Given the description of an element on the screen output the (x, y) to click on. 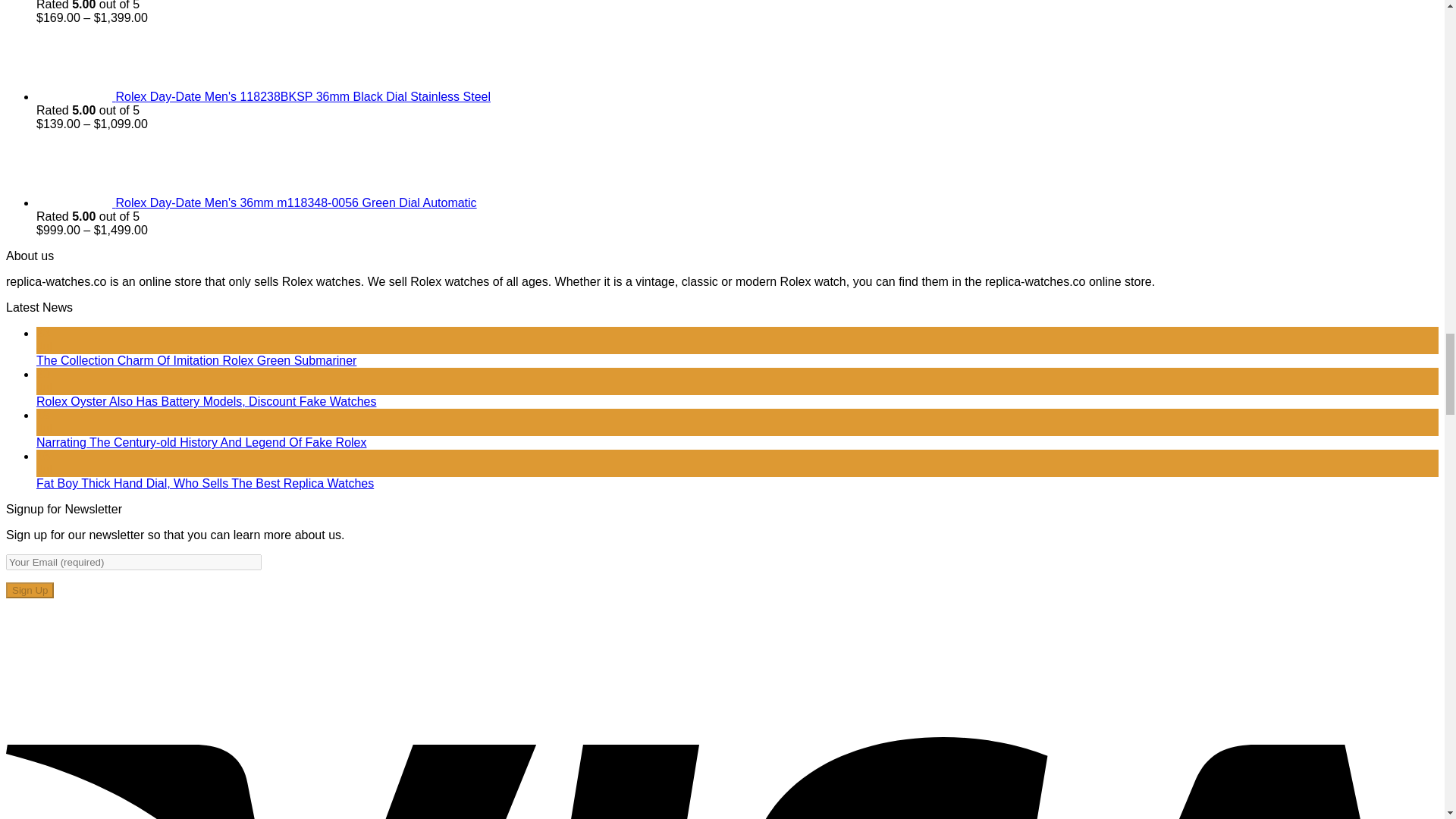
Sign Up (29, 590)
